Given the description of an element on the screen output the (x, y) to click on. 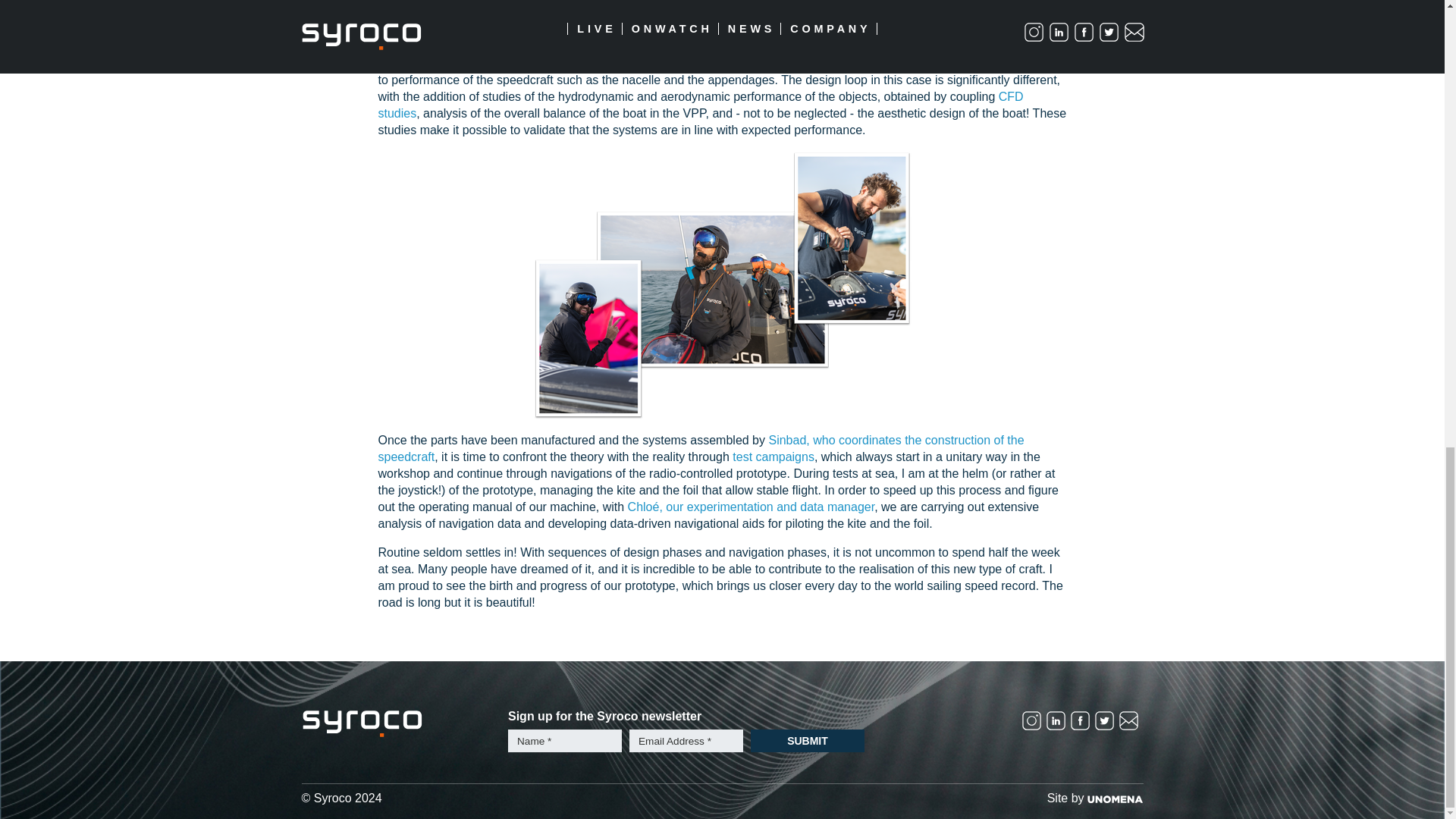
test campaigns (772, 456)
UNOMENA (1114, 797)
Sinbad, who coordinates the construction of the speedcraft (700, 448)
Catherine, our cavitation expert (782, 62)
UNOMENA (1114, 799)
SUBMIT (807, 740)
CFD studies (700, 104)
Victor, our electronics engineer (646, 17)
